Given the description of an element on the screen output the (x, y) to click on. 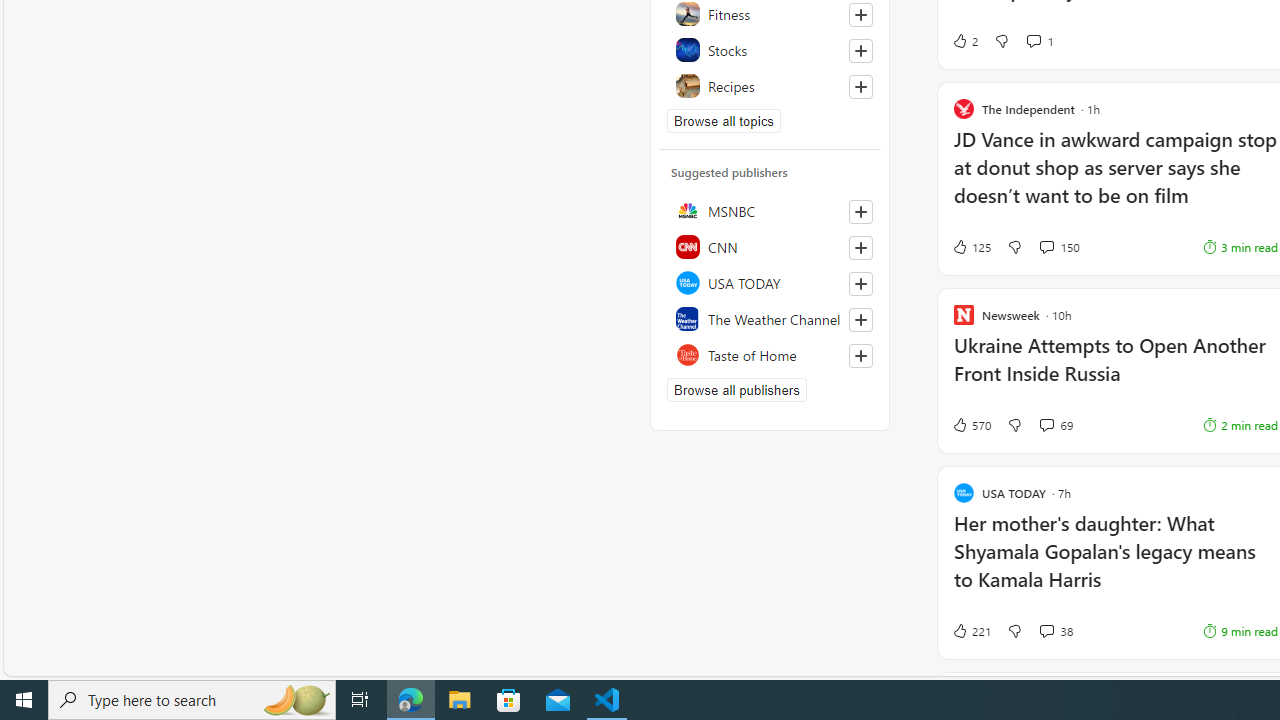
Ukraine Attempts to Open Another Front Inside Russia (1115, 369)
